Given the description of an element on the screen output the (x, y) to click on. 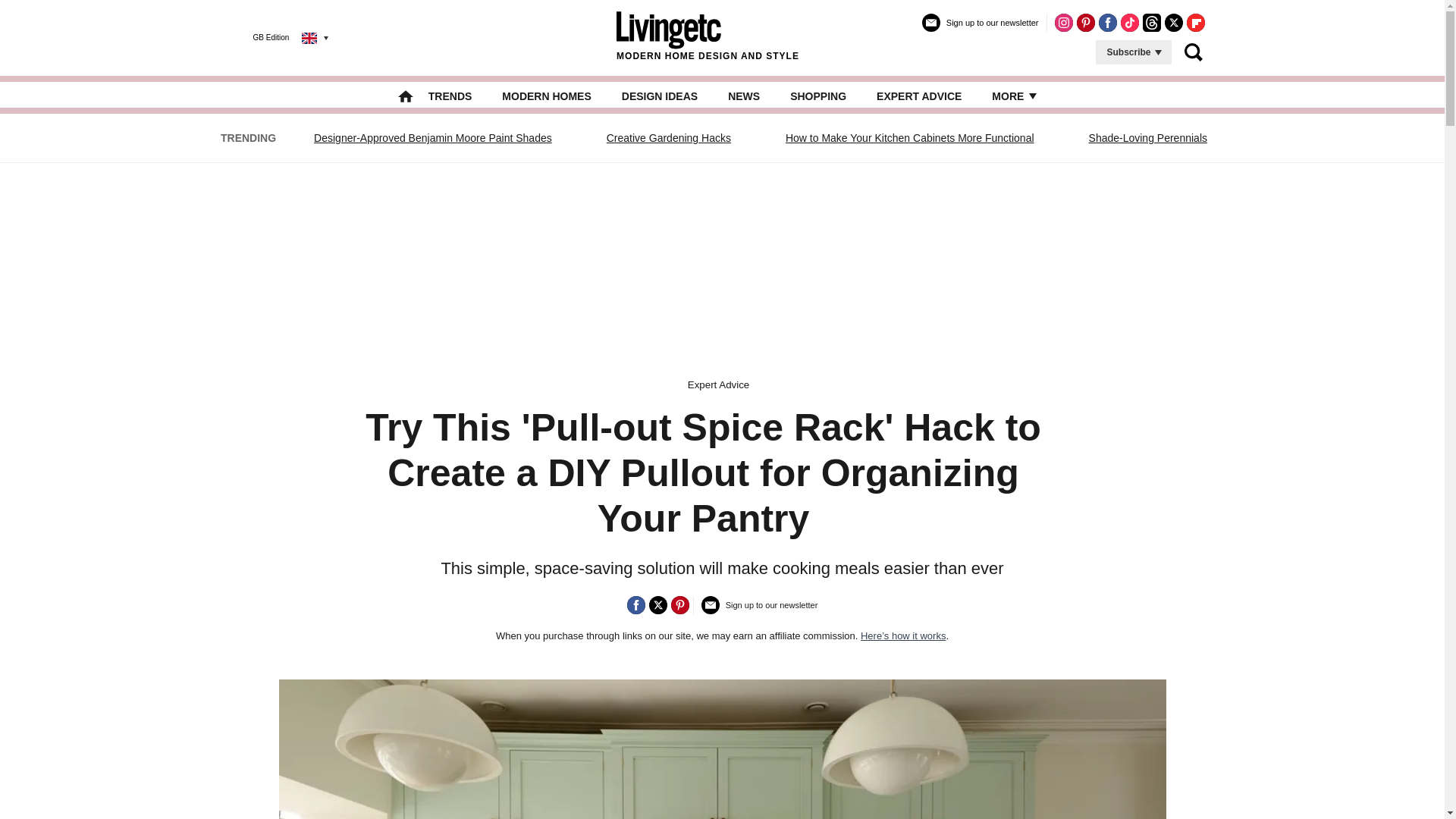
MODERN HOMES (546, 96)
GB Edition (279, 37)
Designer-Approved Benjamin Moore Paint Shades (432, 137)
NEWS (744, 96)
How to Make Your Kitchen Cabinets More Functional (909, 137)
Sign up to our newsletter (759, 610)
SHOPPING (817, 96)
MODERN HOME DESIGN AND STYLE (707, 37)
DESIGN IDEAS (659, 96)
Shade-Loving Perennials (1147, 137)
TRENDS (449, 96)
Expert Advice (718, 384)
Creative Gardening Hacks (668, 137)
EXPERT ADVICE (918, 96)
Sign up to our newsletter (980, 28)
